Given the description of an element on the screen output the (x, y) to click on. 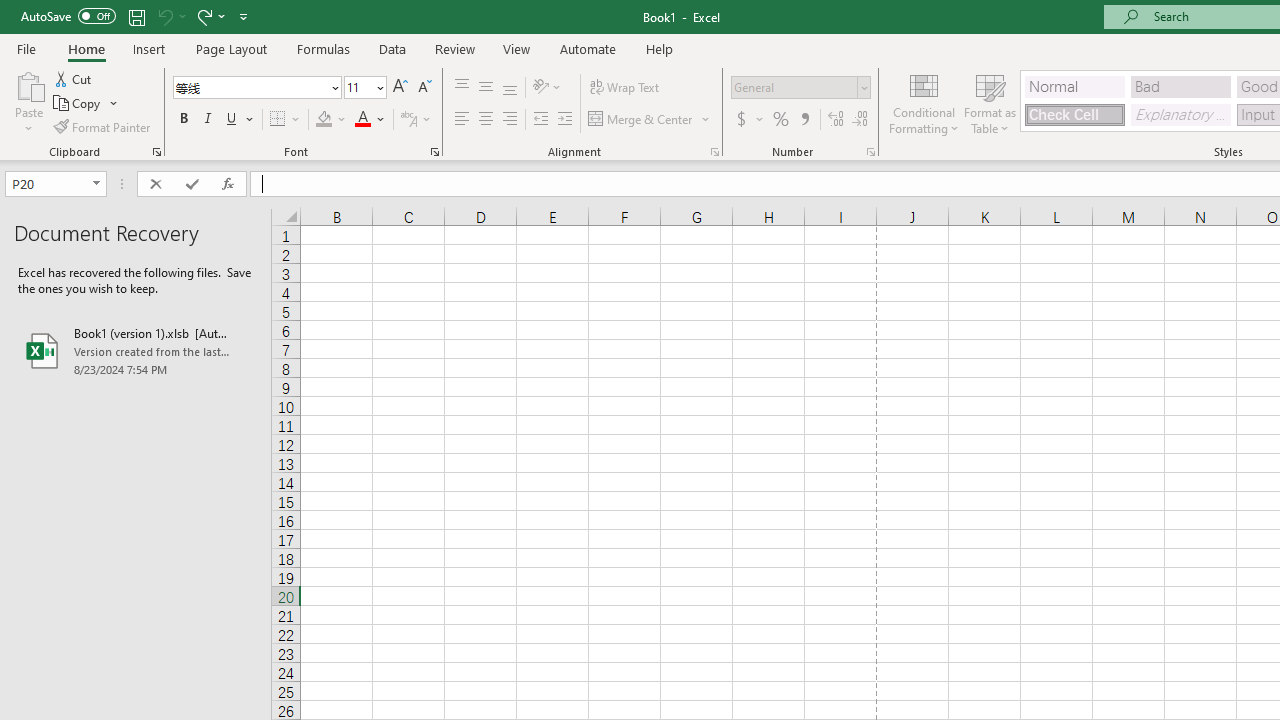
Top Align (461, 87)
Percent Style (781, 119)
Align Left (461, 119)
Show Phonetic Field (408, 119)
Comma Style (804, 119)
Underline (232, 119)
Decrease Font Size (424, 87)
Conditional Formatting (924, 102)
Number Format (800, 87)
Increase Indent (565, 119)
Copy (85, 103)
